Given the description of an element on the screen output the (x, y) to click on. 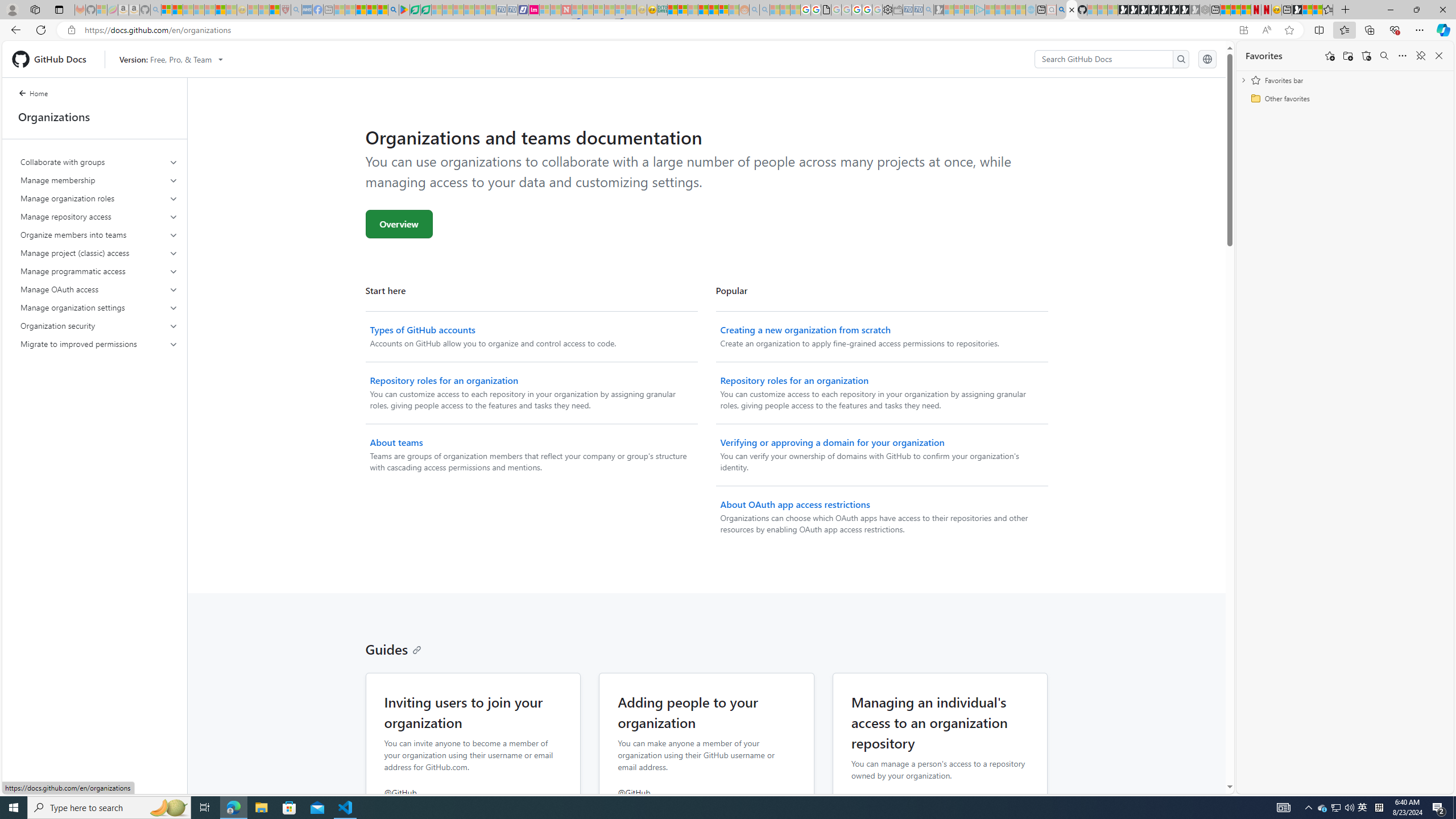
Select language: current language is English (1207, 58)
Organize members into teams (99, 235)
Manage OAuth access (99, 289)
Guides (393, 648)
Wildlife - MSN (1307, 9)
Manage repository access (99, 216)
